Given the description of an element on the screen output the (x, y) to click on. 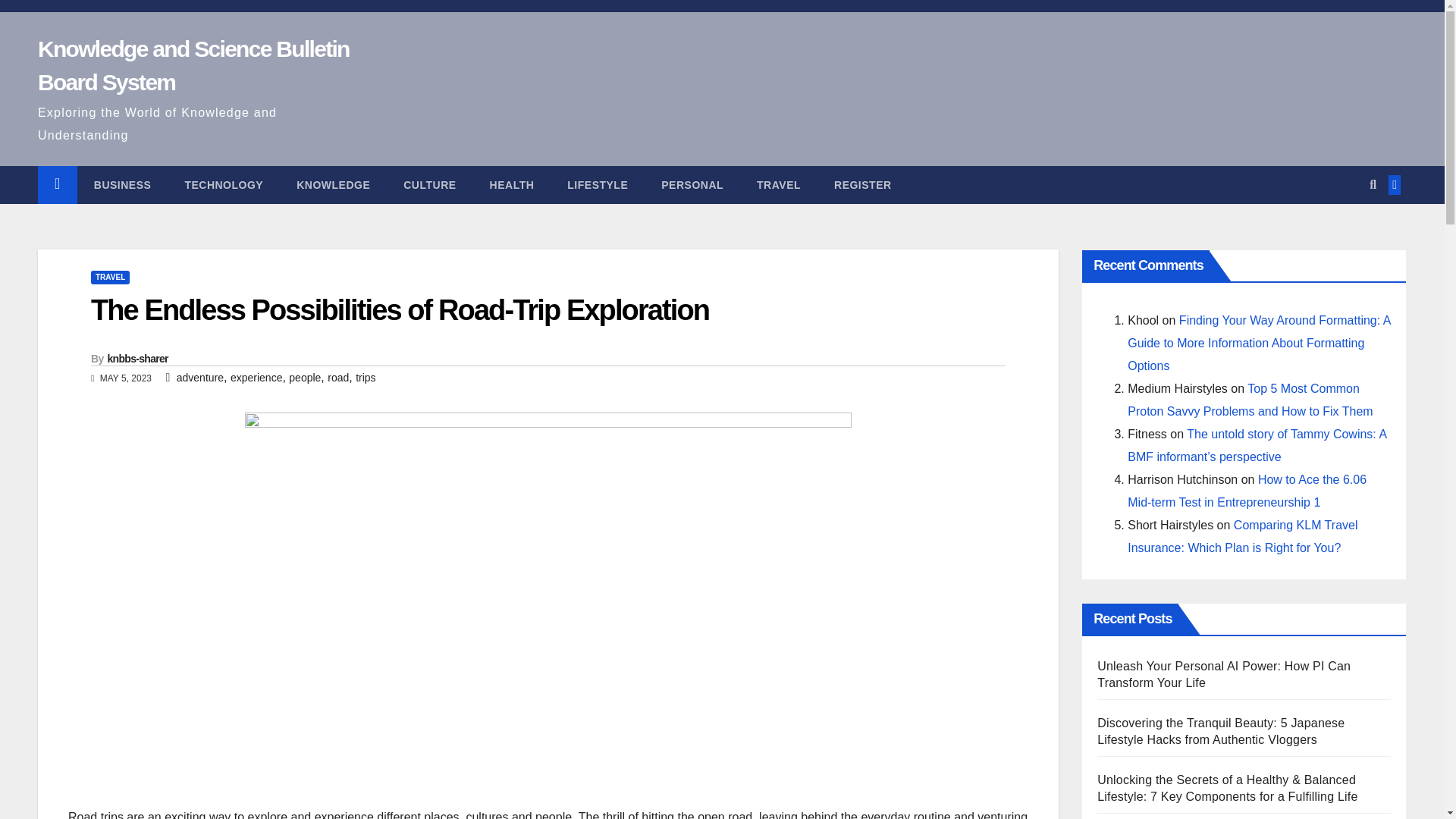
BUSINESS (122, 184)
The Endless Possibilities of Road-Trip Exploration (399, 309)
Knowledge (333, 184)
Lifestyle (597, 184)
CULTURE (429, 184)
road (338, 377)
knbbs-sharer (137, 358)
PERSONAL (692, 184)
adventure (200, 377)
REGISTER (862, 184)
Health (512, 184)
LIFESTYLE (597, 184)
TECHNOLOGY (223, 184)
Technology (223, 184)
trips (365, 377)
